Given the description of an element on the screen output the (x, y) to click on. 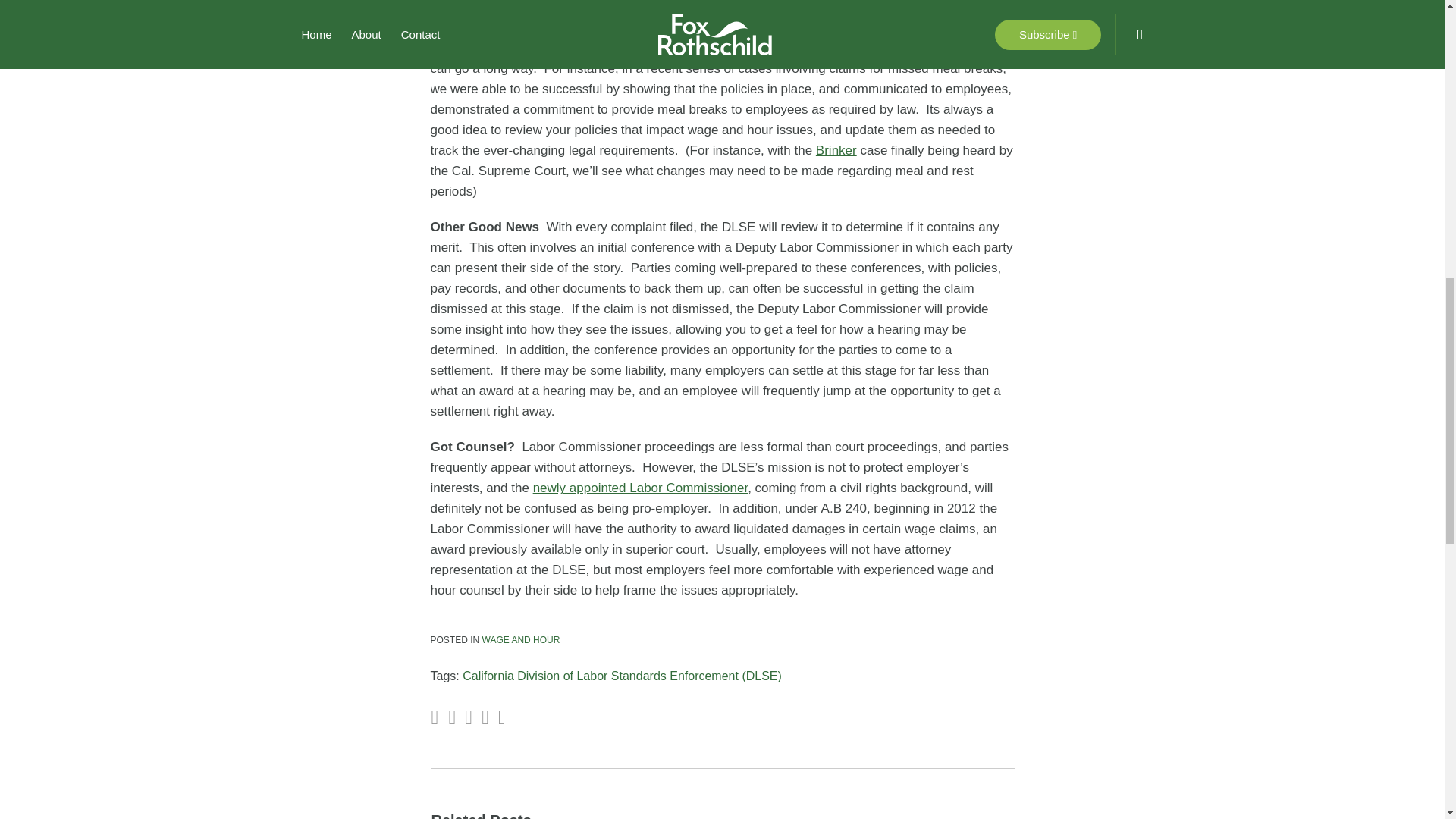
Like this post (485, 717)
Email this post (451, 717)
newly appointed Labor Commissioner (640, 487)
Print: (434, 716)
WAGE AND HOUR (520, 639)
Share this post on LinkedIn (501, 717)
Tweet this post (467, 717)
Brinker (836, 150)
